Given the description of an element on the screen output the (x, y) to click on. 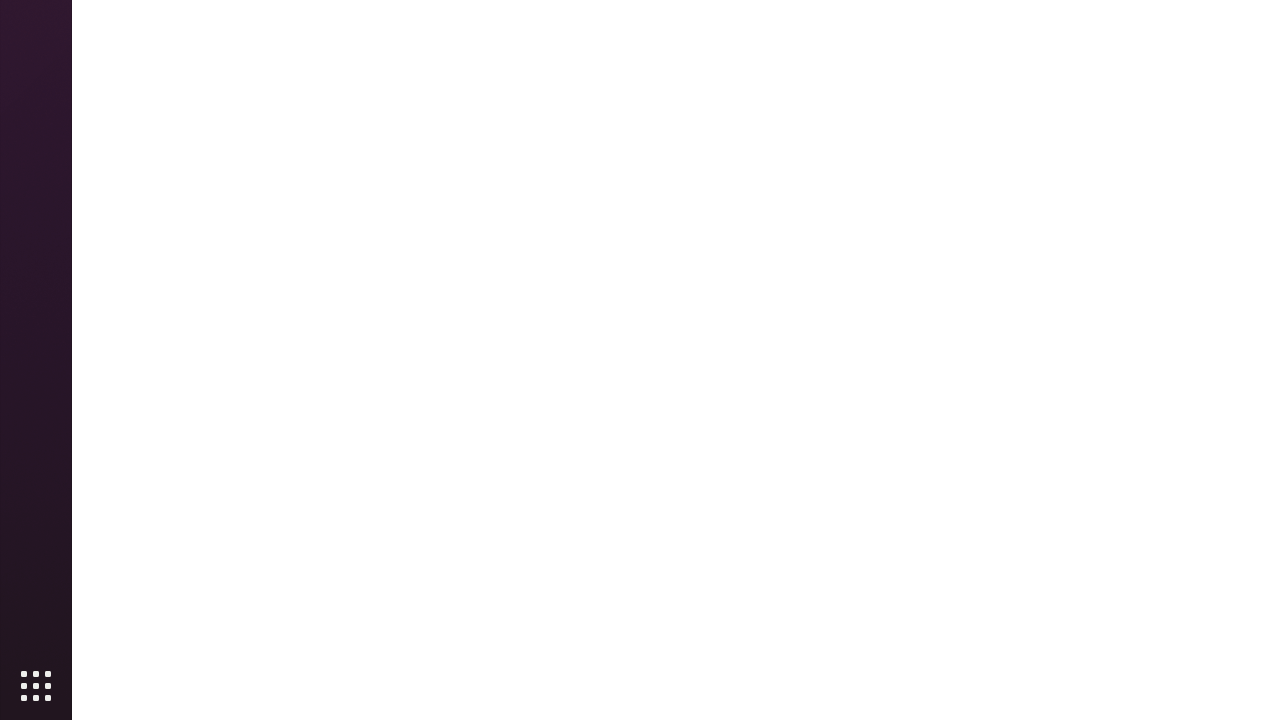
Show Applications Element type: toggle-button (36, 686)
